Given the description of an element on the screen output the (x, y) to click on. 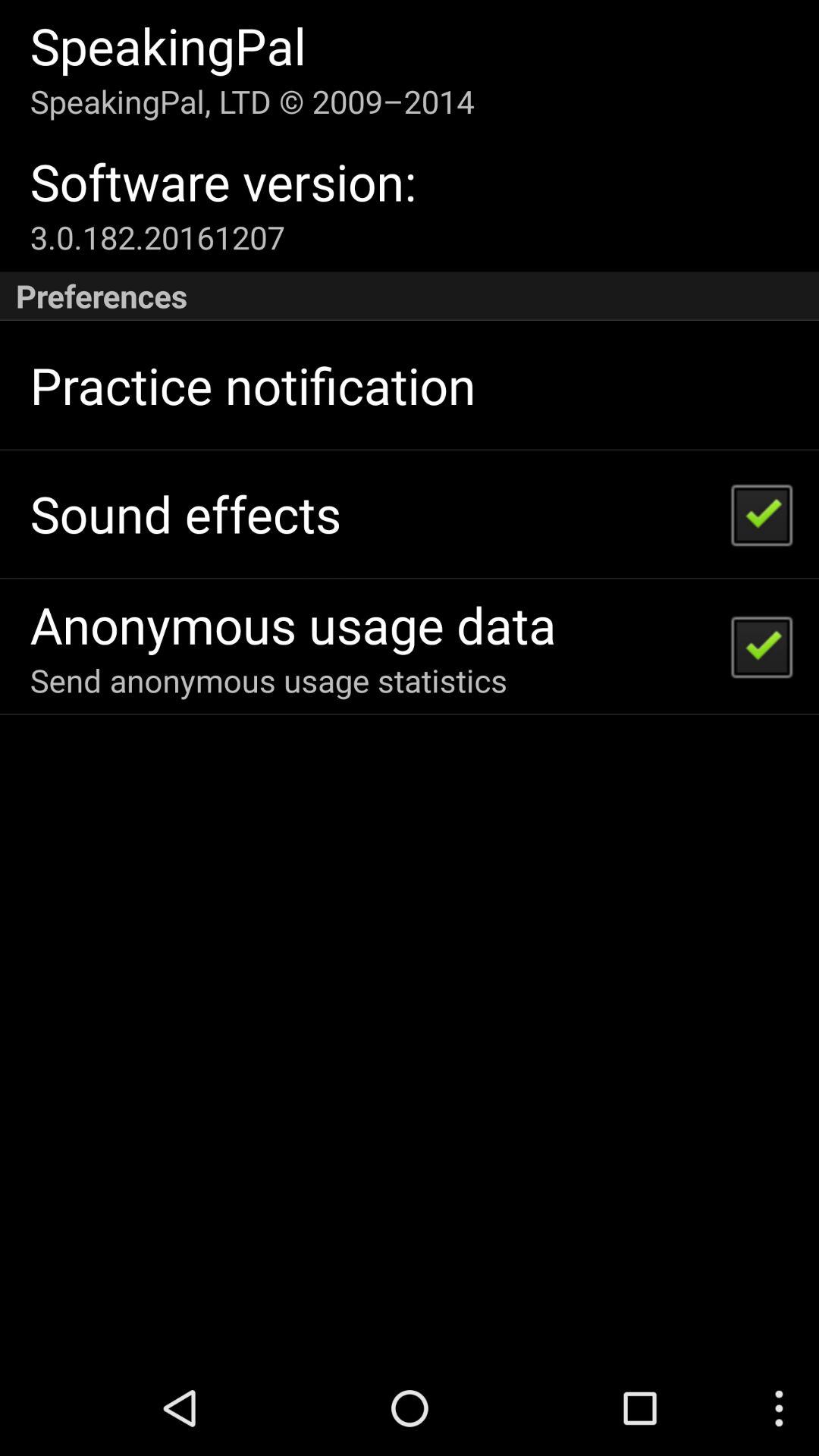
open software version: (223, 181)
